Given the description of an element on the screen output the (x, y) to click on. 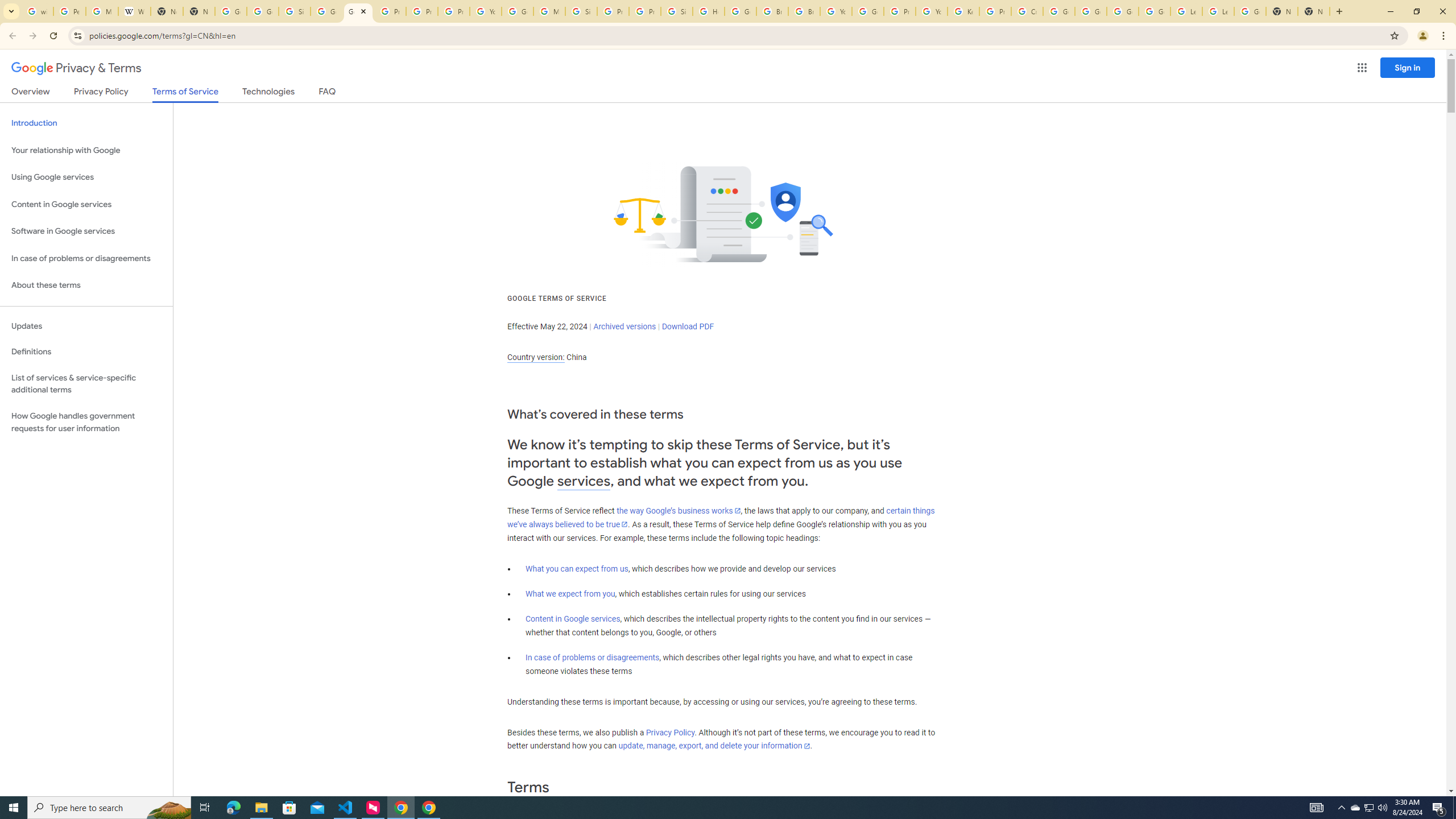
Personalization & Google Search results - Google Search Help (69, 11)
Definitions (86, 352)
Google Account Help (1154, 11)
Sign in - Google Accounts (581, 11)
Using Google services (86, 176)
Brand Resource Center (772, 11)
